Given the description of an element on the screen output the (x, y) to click on. 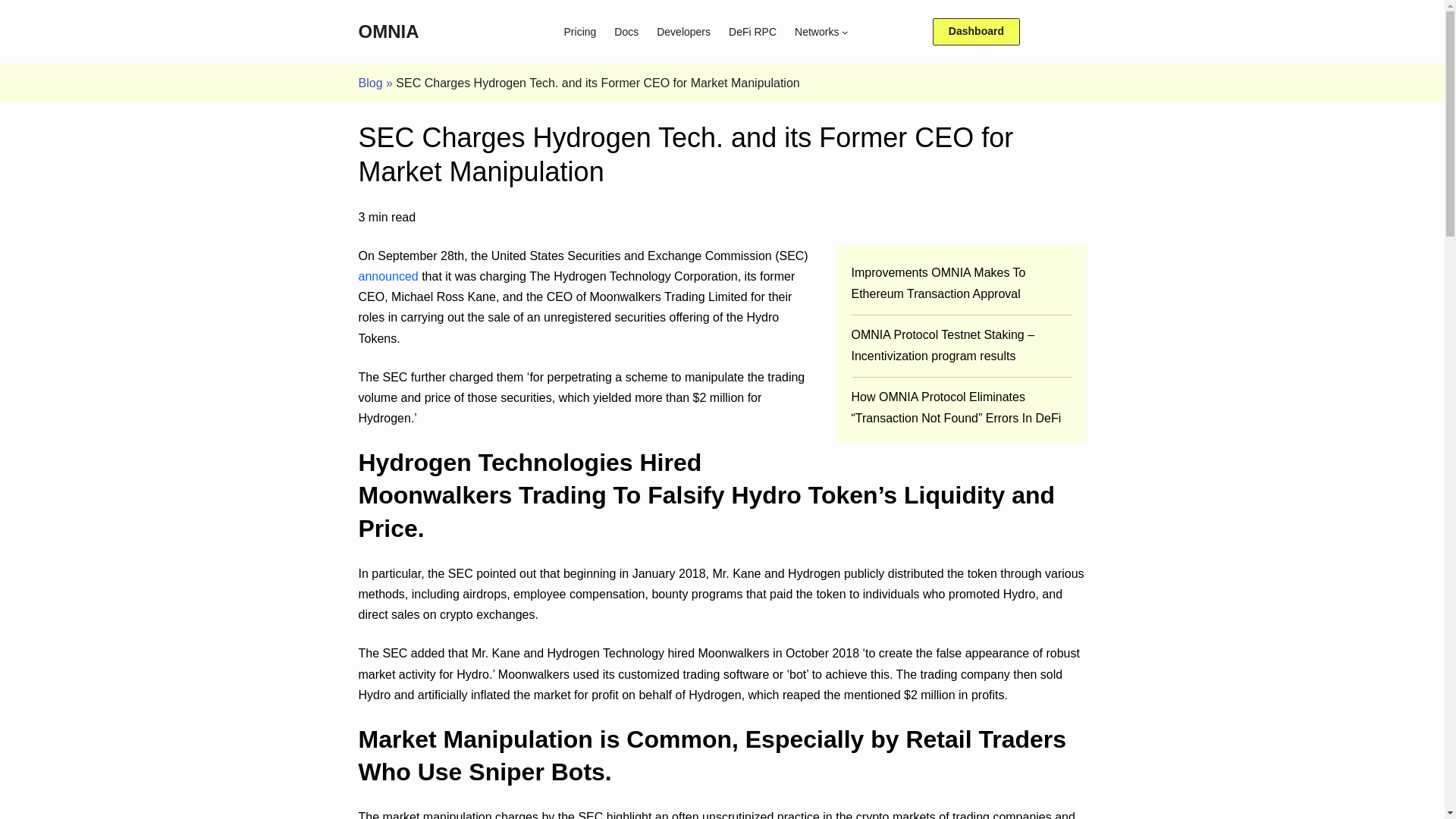
Docs (626, 31)
Improvements OMNIA Makes To Ethereum Transaction Approval  (937, 283)
DeFi RPC (752, 31)
Blog (369, 82)
Developers (683, 31)
OMNIA (388, 31)
Pricing (580, 31)
Networks (816, 31)
Dashboard (976, 31)
announced (387, 276)
